Given the description of an element on the screen output the (x, y) to click on. 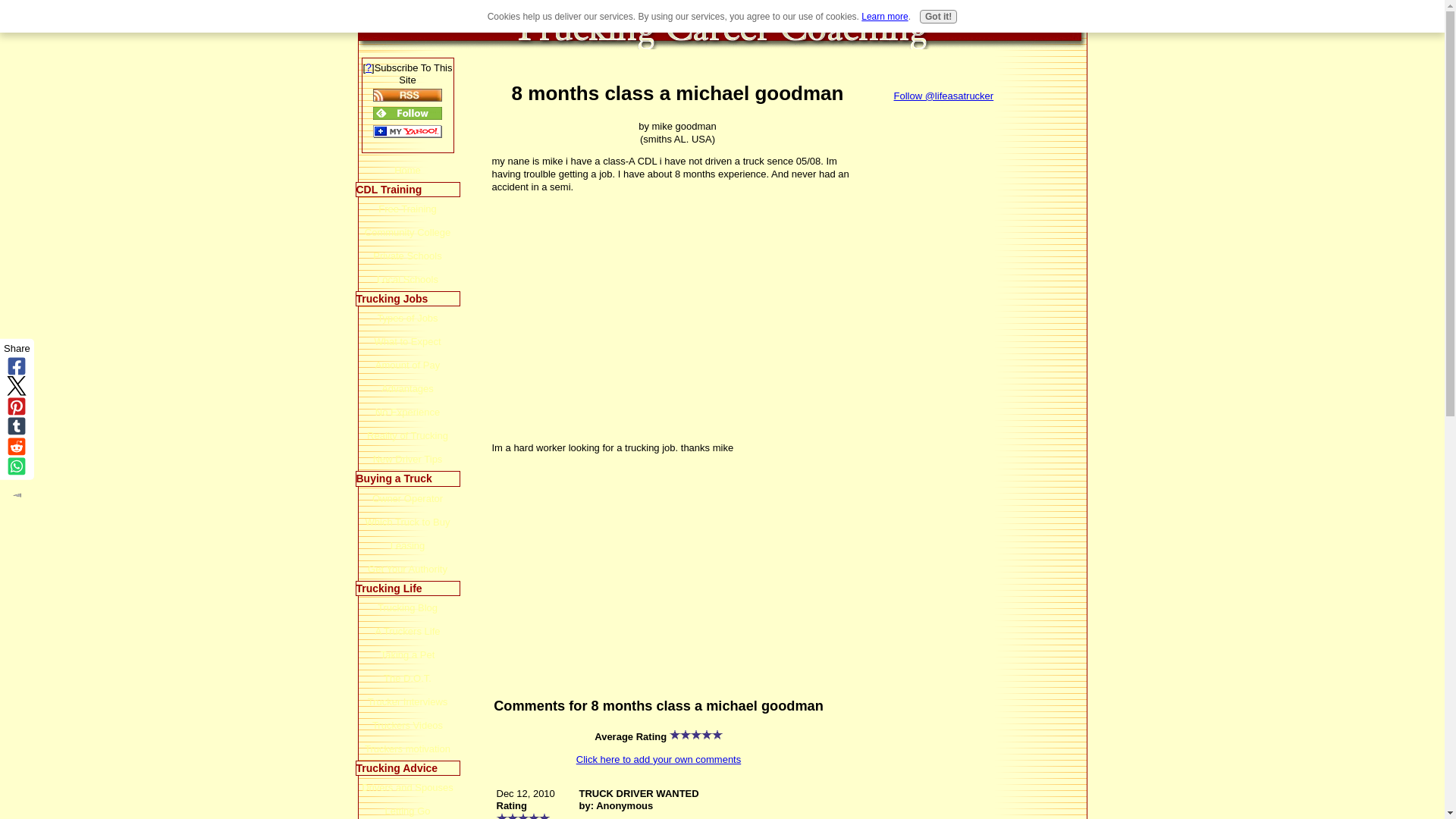
Community College (407, 232)
Free Training (407, 208)
A Truckers Life (407, 630)
Private Schools (407, 255)
Taking a Pet (407, 654)
Reality of Trucking (407, 435)
No Experience (407, 412)
Amount of Pay (407, 364)
New Driver Tips (407, 458)
What to Expect (407, 341)
Truckers motivation (407, 748)
Click here to add your own comments (658, 758)
Drivers and Spouses (407, 787)
? (368, 67)
Types of Jobs (407, 318)
